Given the description of an element on the screen output the (x, y) to click on. 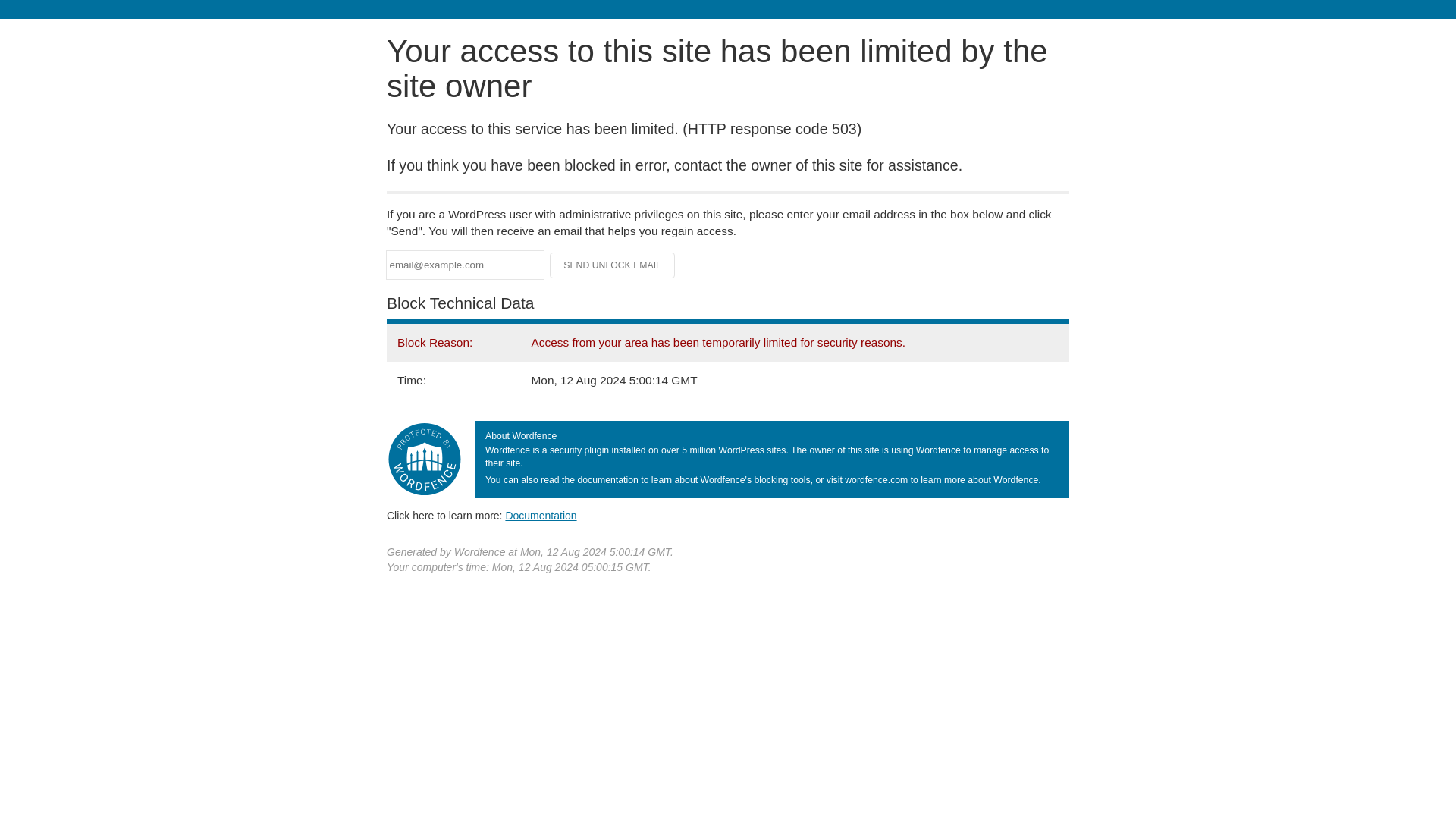
Send Unlock Email (612, 265)
Send Unlock Email (612, 265)
Documentation (540, 515)
